Given the description of an element on the screen output the (x, y) to click on. 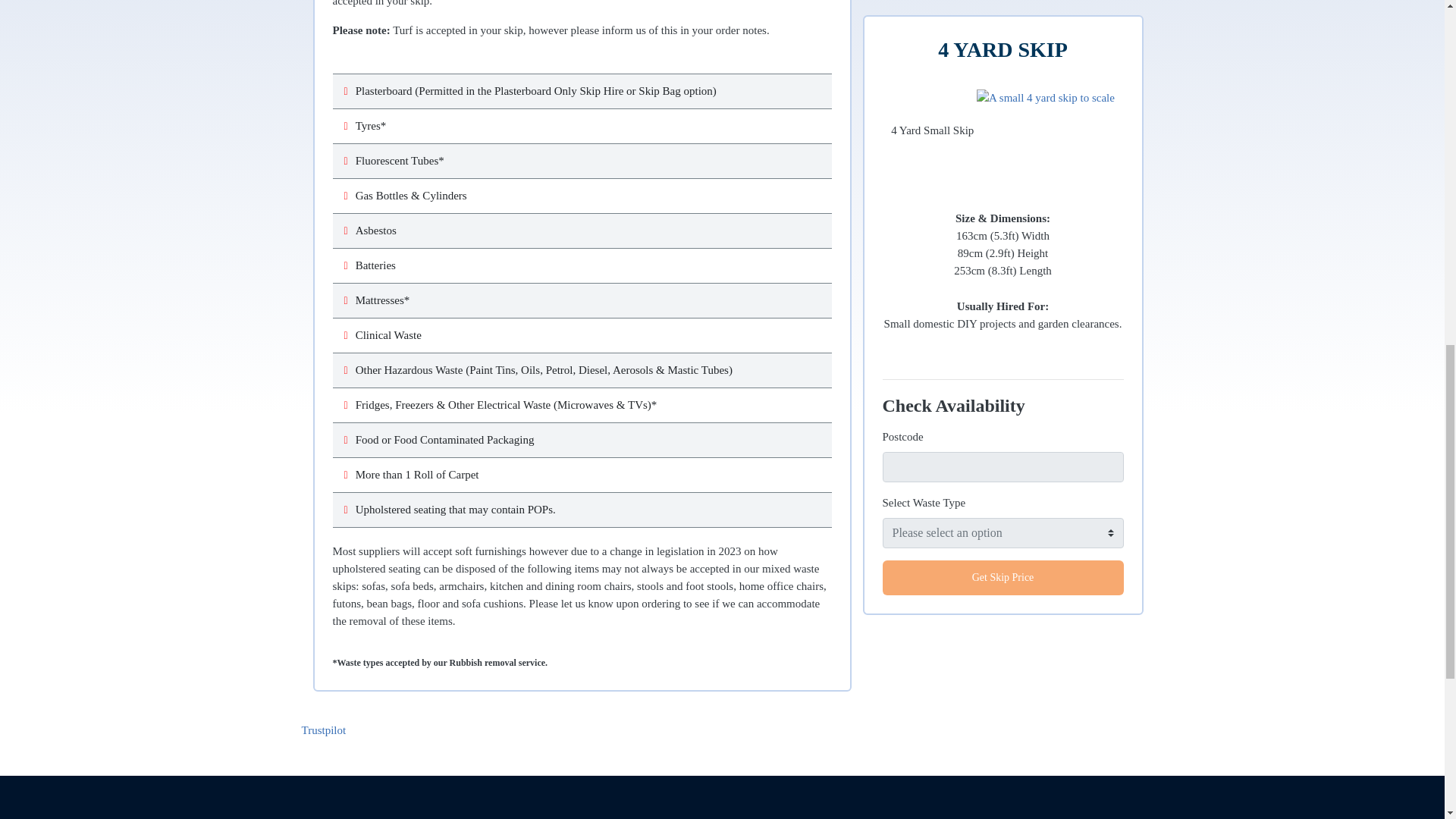
Trustpilot (323, 729)
Get Skip Price (1003, 11)
